Given the description of an element on the screen output the (x, y) to click on. 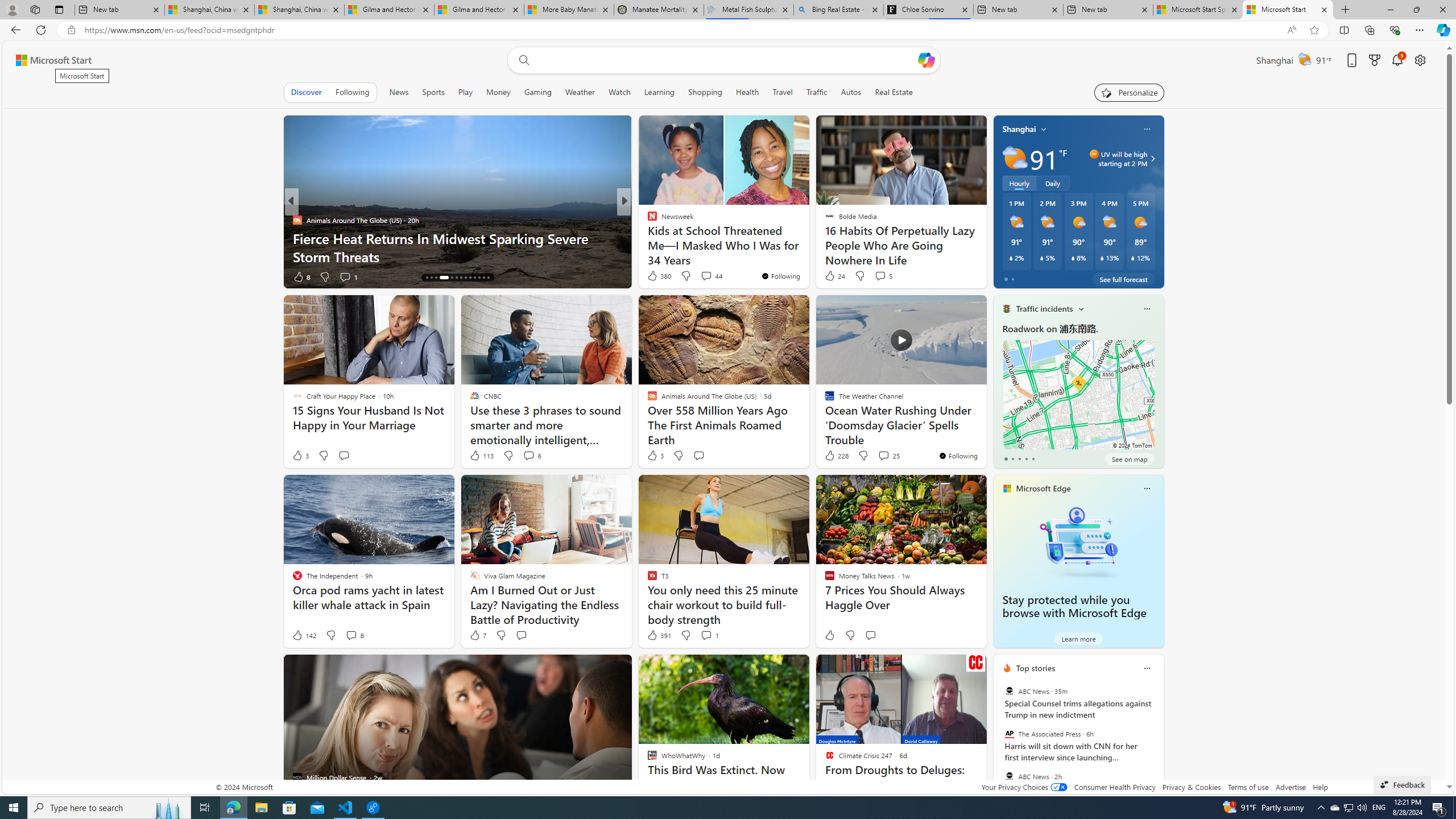
5 Like (651, 276)
228 Like (835, 455)
MUO (647, 238)
Change scenarios (1080, 308)
AutomationID: tab-21 (465, 277)
The 17 Most Intriguing Creatures of the Deep Ocean (807, 256)
